Given the description of an element on the screen output the (x, y) to click on. 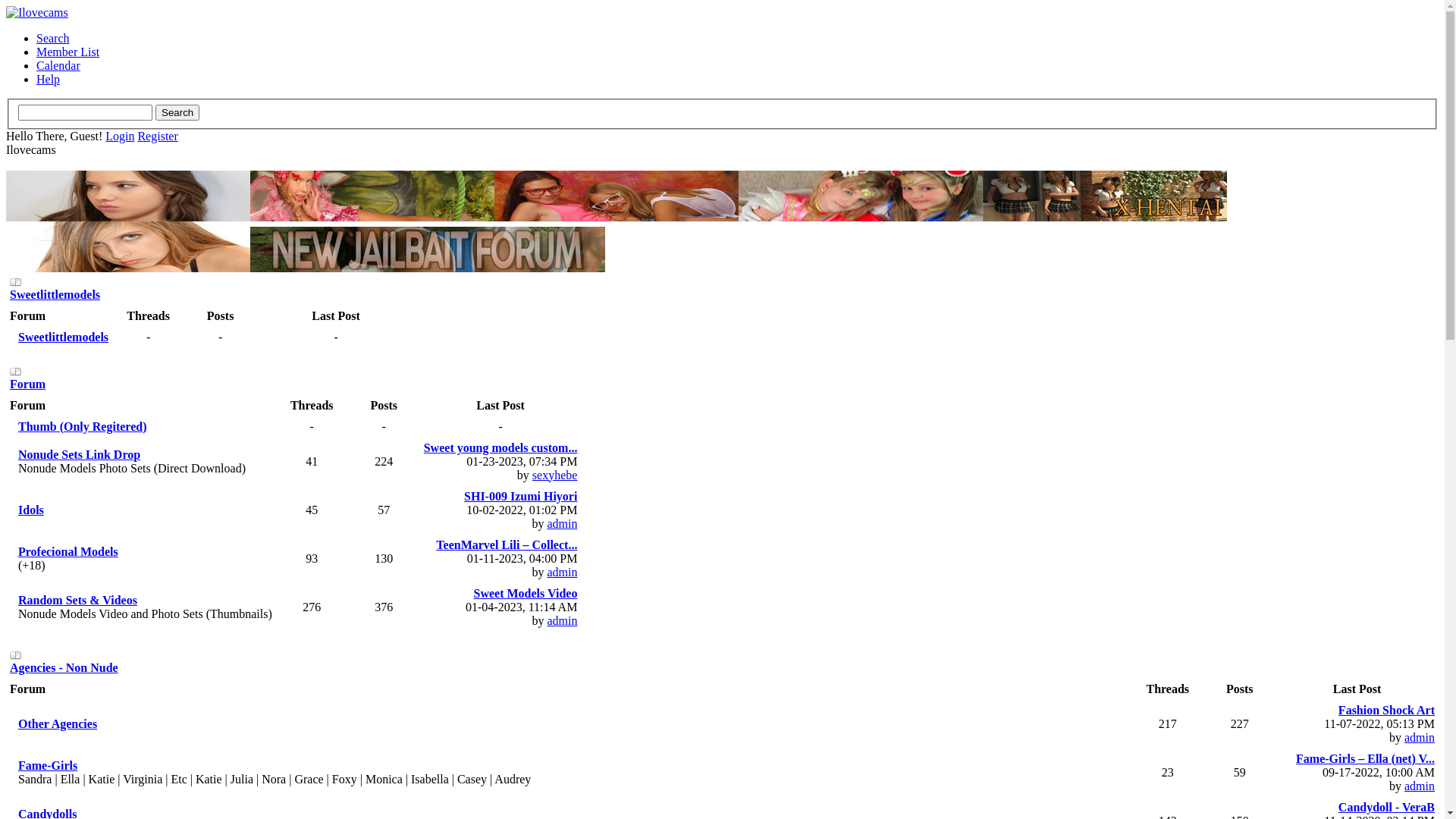
Random Sets & Videos Element type: text (77, 599)
Search Element type: text (52, 37)
Member List Element type: text (67, 51)
Search Element type: text (177, 112)
Thumb (Only Regitered) Element type: text (82, 426)
[-] Element type: hover (15, 282)
Forum Element type: text (27, 383)
admin Element type: text (561, 620)
admin Element type: text (561, 523)
Agencies - Non Nude Element type: text (63, 667)
Sweet young models custom... Element type: text (500, 447)
Sweetlittlemodels Element type: text (63, 336)
Login Element type: text (119, 135)
Fashion Shock Art Element type: text (1386, 709)
SHI-009 Izumi Hiyori Element type: text (520, 495)
Register Element type: text (157, 135)
Nonude Sets Link Drop Element type: text (79, 454)
[-] Element type: hover (15, 655)
Calendar Element type: text (58, 65)
admin Element type: text (1419, 737)
Ilovecams Element type: hover (37, 12)
Sweetlittlemodels Element type: text (54, 294)
Profecional Models Element type: text (68, 551)
admin Element type: text (561, 571)
[-] Element type: hover (15, 371)
Help Element type: text (47, 78)
Sweet Models Video Element type: text (525, 592)
Fame-Girls Element type: text (47, 765)
Candydoll - VeraB Element type: text (1386, 806)
Other Agencies Element type: text (57, 723)
sexyhebe Element type: text (554, 474)
admin Element type: text (1419, 785)
Idols Element type: text (30, 509)
